Given the description of an element on the screen output the (x, y) to click on. 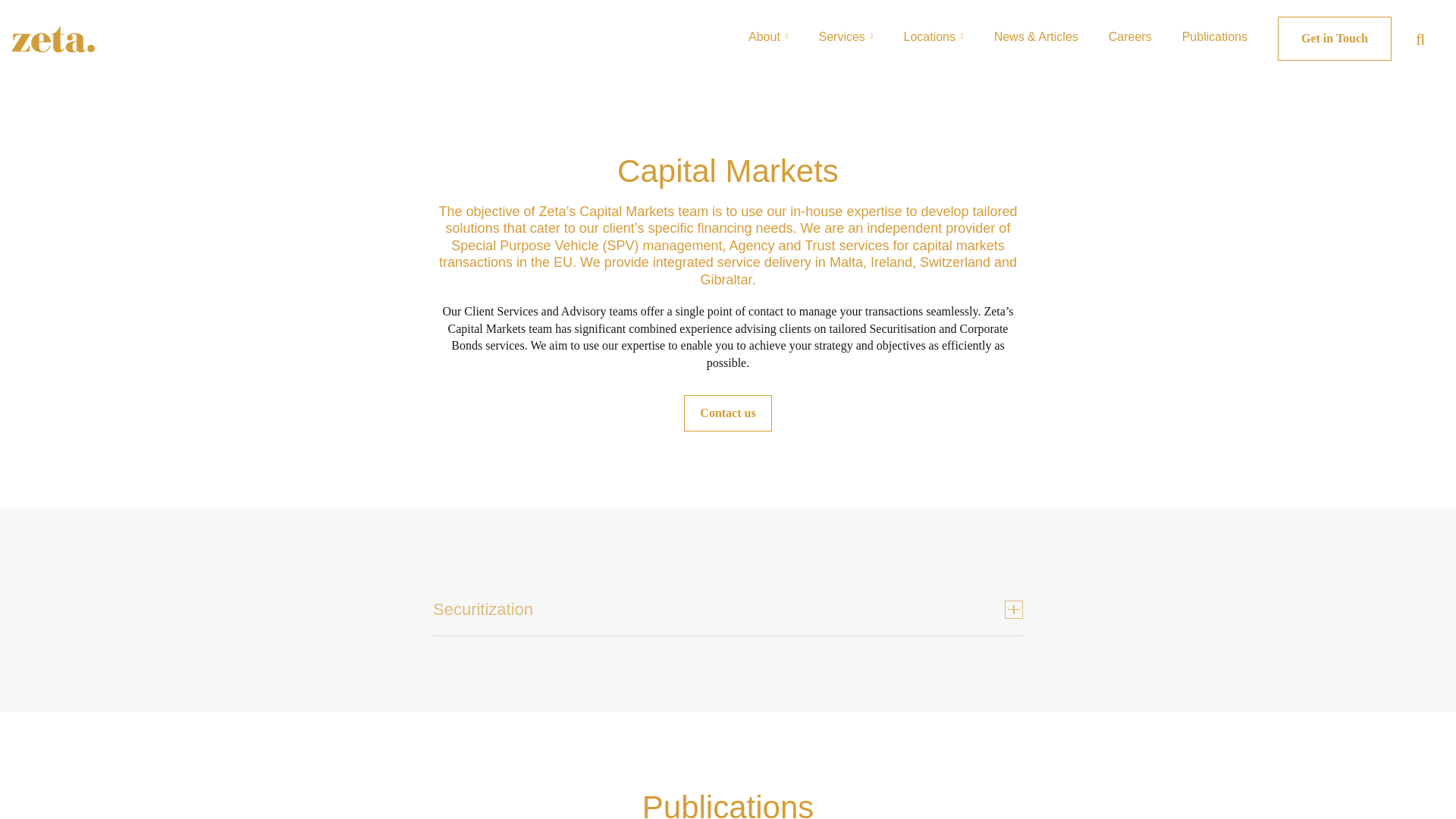
Contact us (727, 412)
Publications (1214, 36)
About (767, 36)
About (767, 36)
Securitization (727, 609)
Careers (1129, 36)
Locations (933, 36)
Services (845, 36)
Locations (933, 36)
Get in Touch (1334, 38)
Services (845, 36)
